Given the description of an element on the screen output the (x, y) to click on. 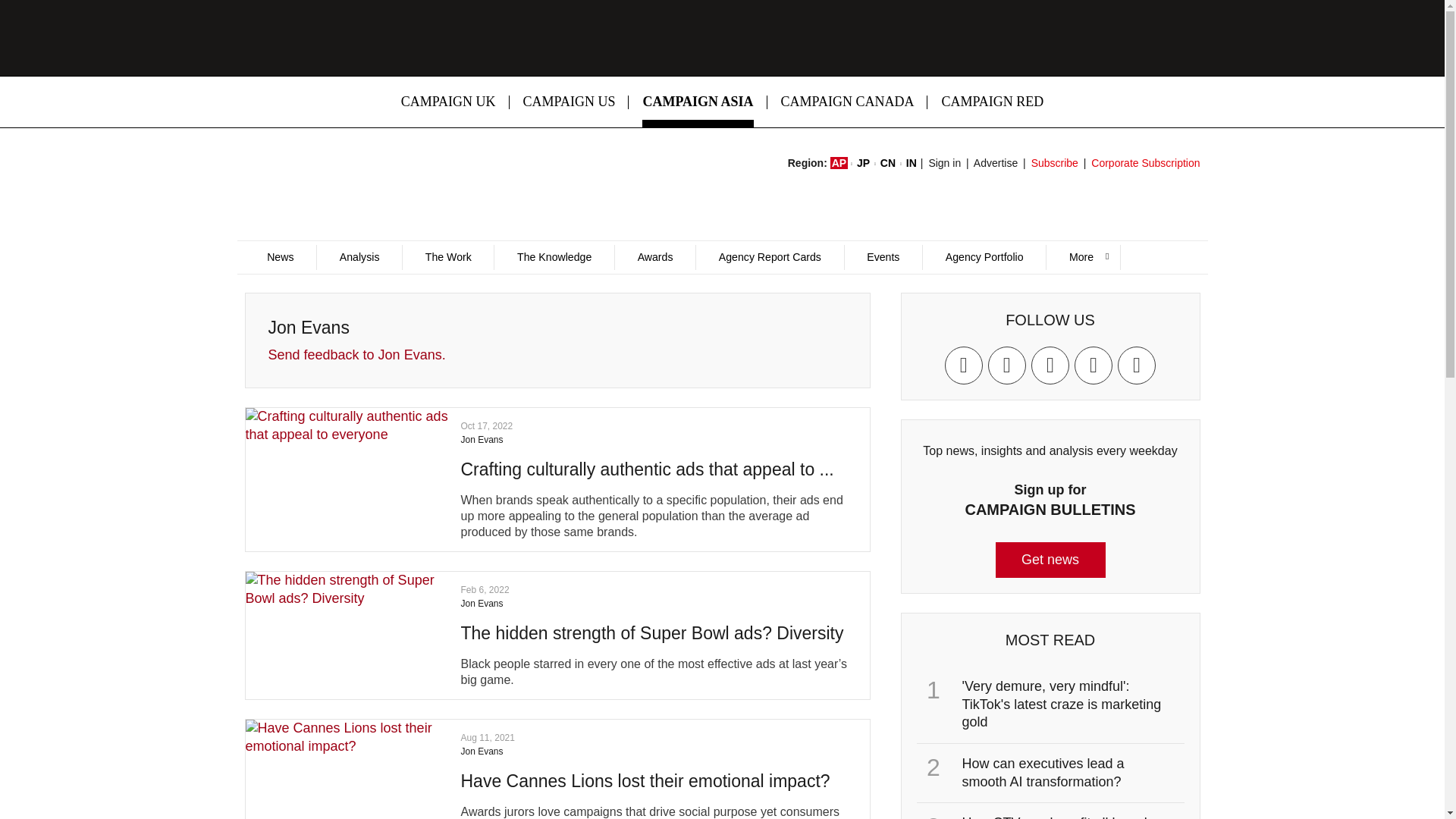
Corporate Subscription (1144, 162)
Sign in (944, 162)
Advertise (995, 162)
Awards (654, 257)
CAMPAIGN RED (992, 101)
The Knowledge (553, 257)
Sign in (944, 162)
CN (887, 162)
Crafting culturally authentic ads that appeal to everyone (647, 469)
Agency Portfolio (983, 257)
